Given the description of an element on the screen output the (x, y) to click on. 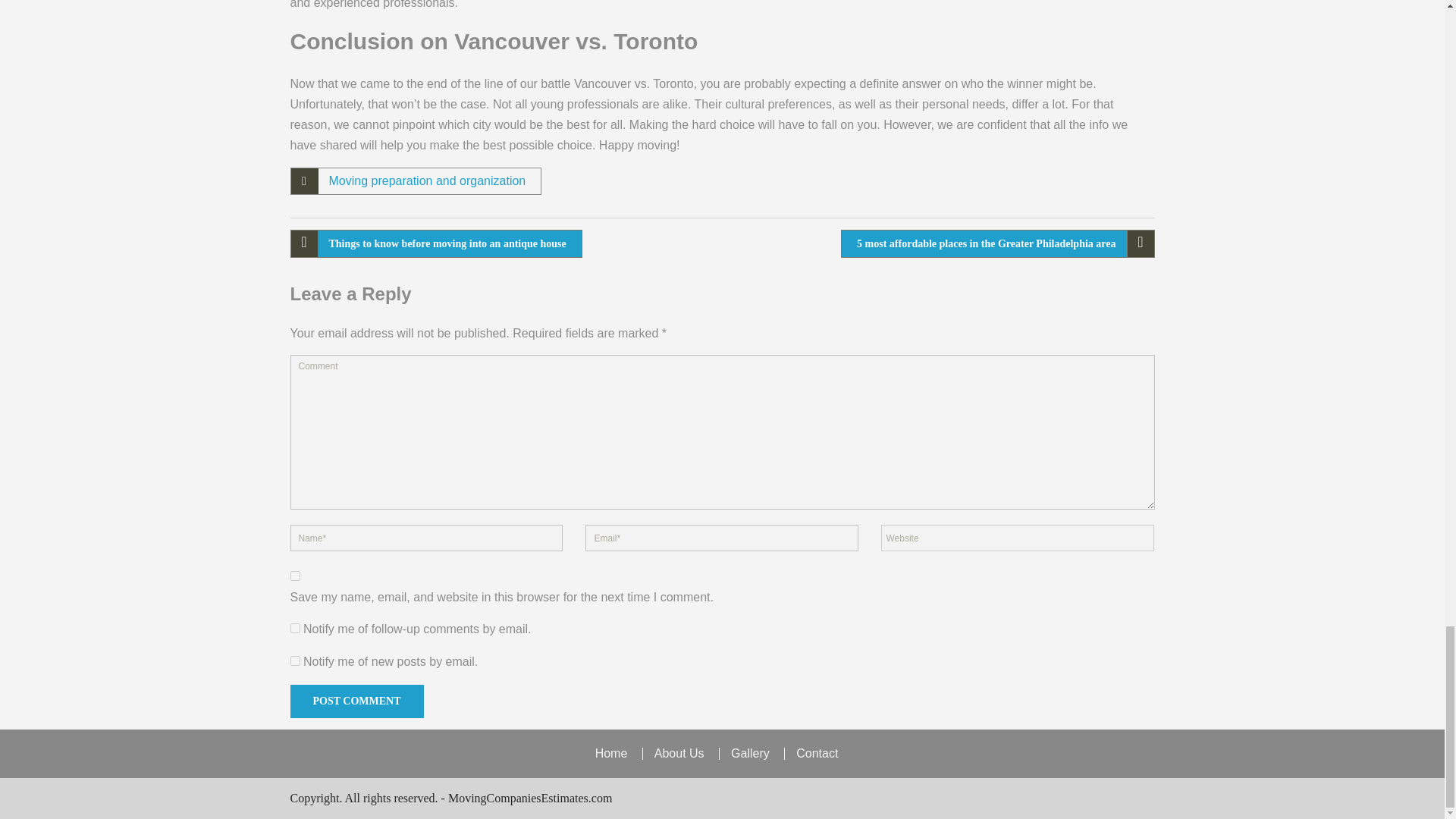
5 most affordable places in the Greater Philadelphia area (997, 243)
Things to know before moving into an antique house (434, 243)
yes (294, 575)
Contact (816, 753)
subscribe (294, 660)
Post Comment (356, 701)
Post Comment (356, 701)
subscribe (294, 628)
Moving preparation and organization (427, 180)
Gallery (749, 753)
